Given the description of an element on the screen output the (x, y) to click on. 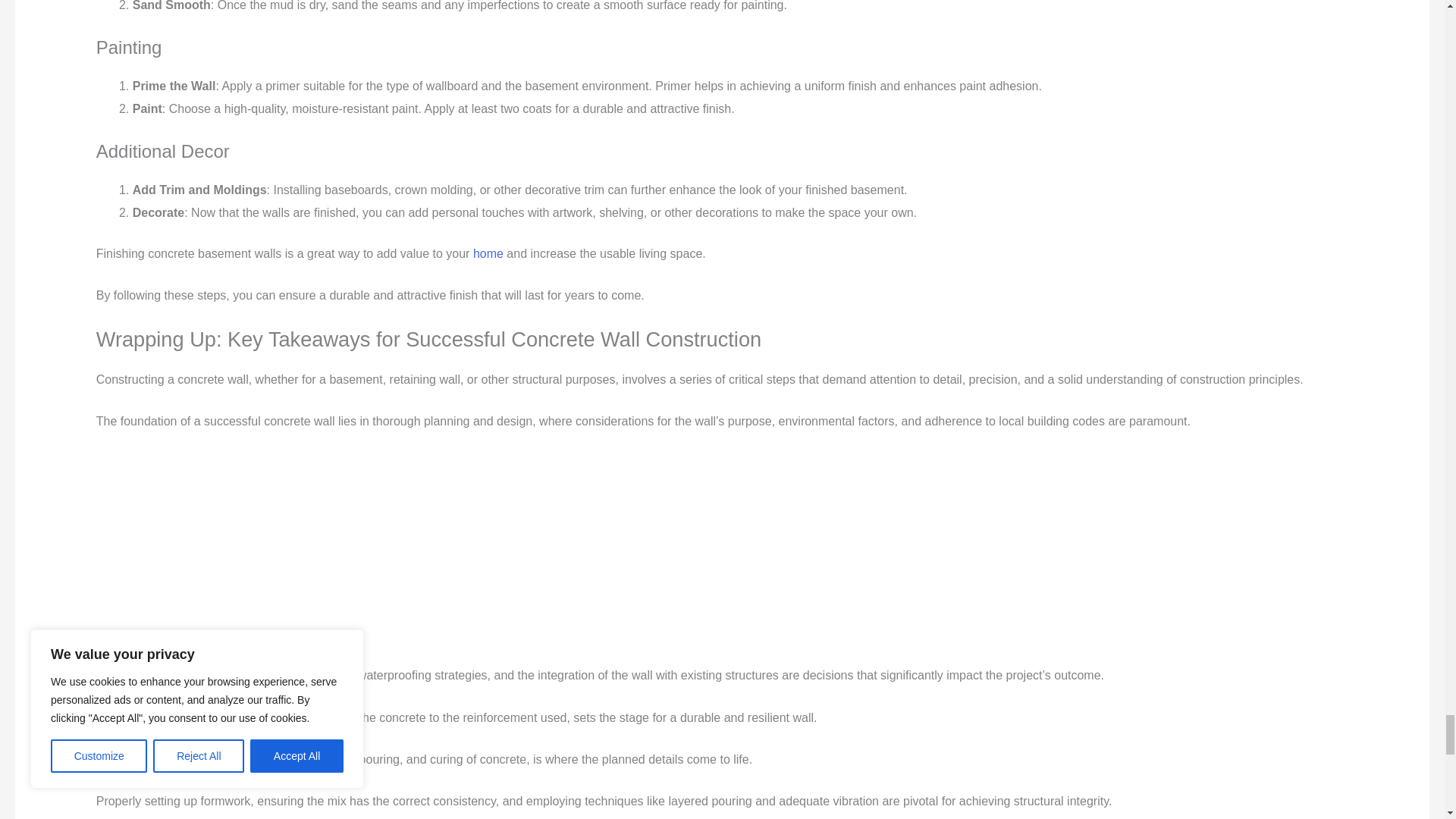
home (488, 253)
